Given the description of an element on the screen output the (x, y) to click on. 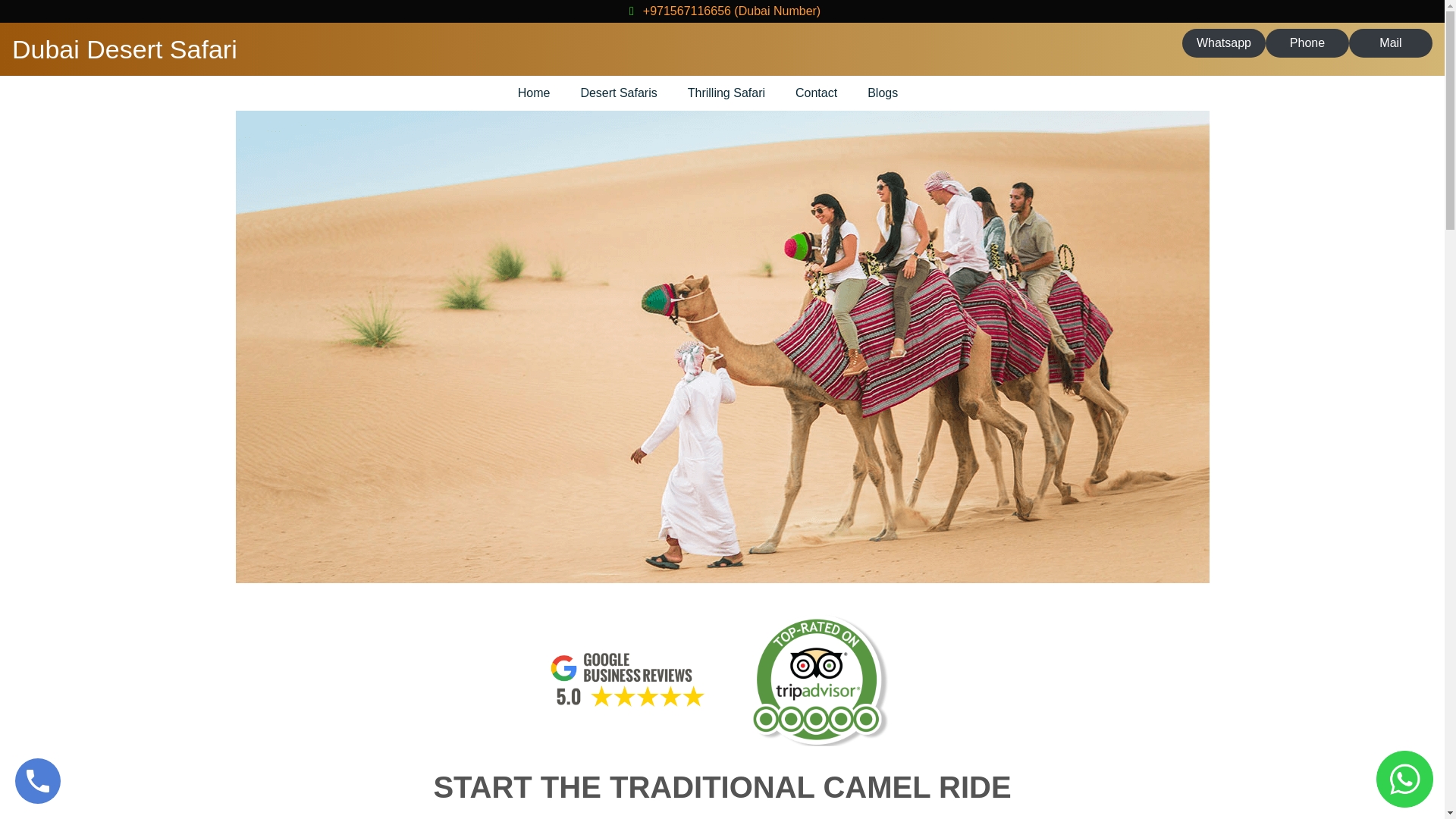
Phone (1307, 42)
Mail (1390, 42)
Home (534, 93)
Mail (1390, 42)
Phone (1307, 42)
Thrilling Safari (726, 93)
Whatsapp (1223, 42)
Blogs (881, 93)
Desert Safaris (617, 93)
Contact (815, 93)
